Given the description of an element on the screen output the (x, y) to click on. 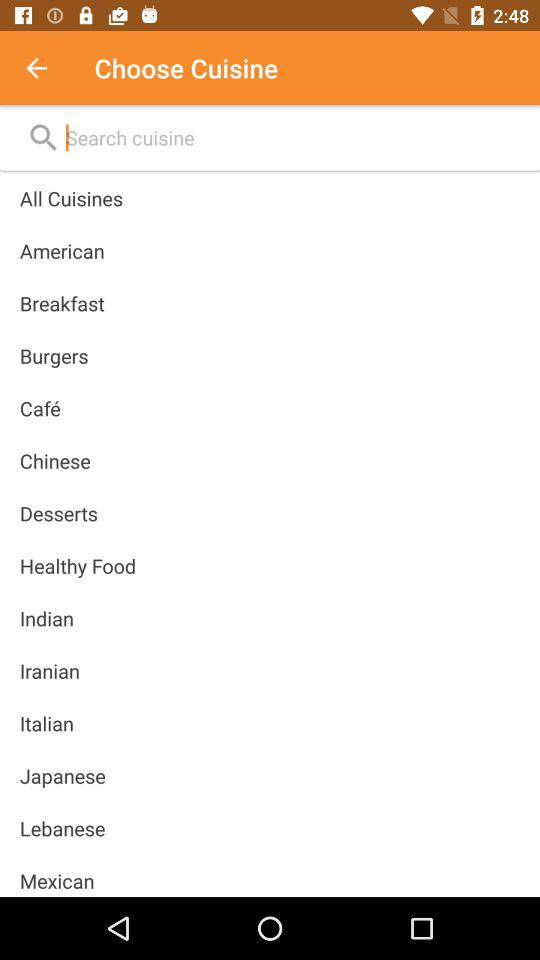
select icon below the healthy food (46, 618)
